Given the description of an element on the screen output the (x, y) to click on. 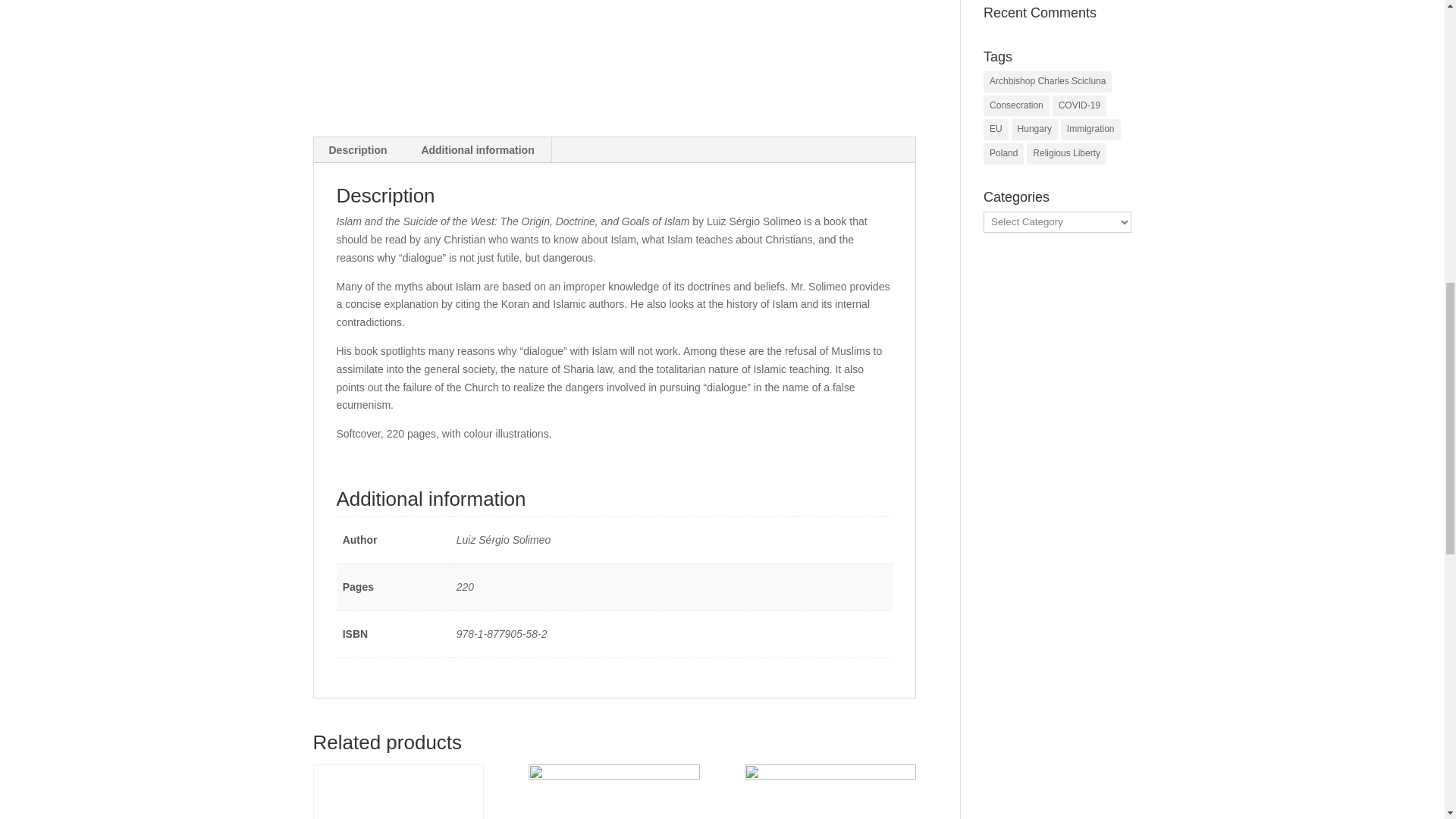
Hungary (1034, 129)
Description (358, 149)
COVID-19 (1079, 106)
Archbishop Charles Scicluna (1048, 81)
Poland (1003, 153)
Additional information (477, 149)
EU (996, 129)
Religious Liberty (1066, 153)
Consecration (1016, 106)
Immigration (1091, 129)
